Given the description of an element on the screen output the (x, y) to click on. 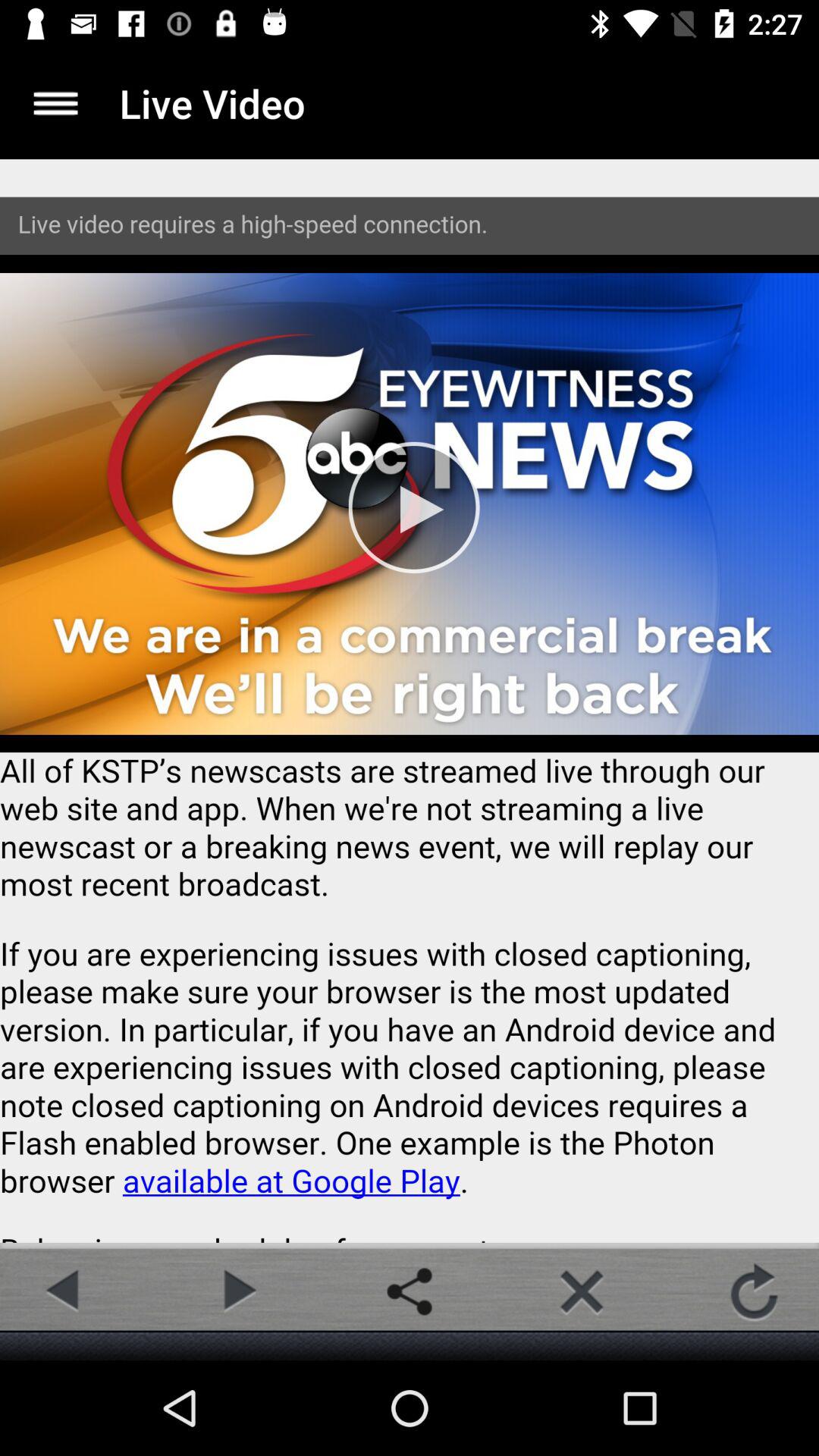
go to share (409, 1291)
